Given the description of an element on the screen output the (x, y) to click on. 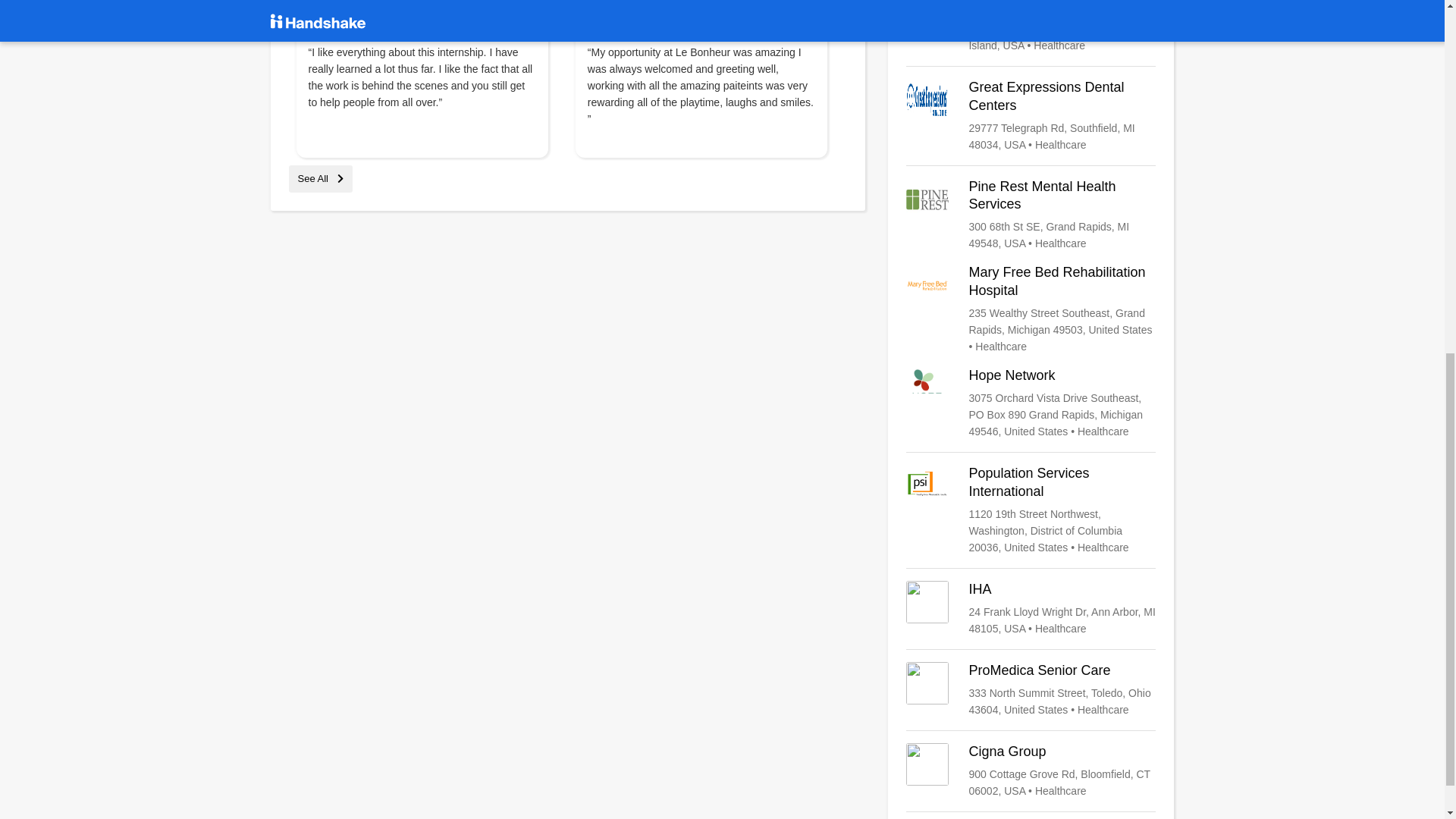
Pine Rest Mental Health Services (1030, 215)
CVS Health (1030, 27)
Population Services International (1030, 510)
See All (320, 178)
ProMedica Senior Care (1030, 689)
Cigna Group (1030, 770)
Mary Free Bed Rehabilitation Hospital (1030, 308)
IHA (1030, 608)
Great Expressions Dental Centers (1030, 115)
Hope Network (1030, 402)
